Given the description of an element on the screen output the (x, y) to click on. 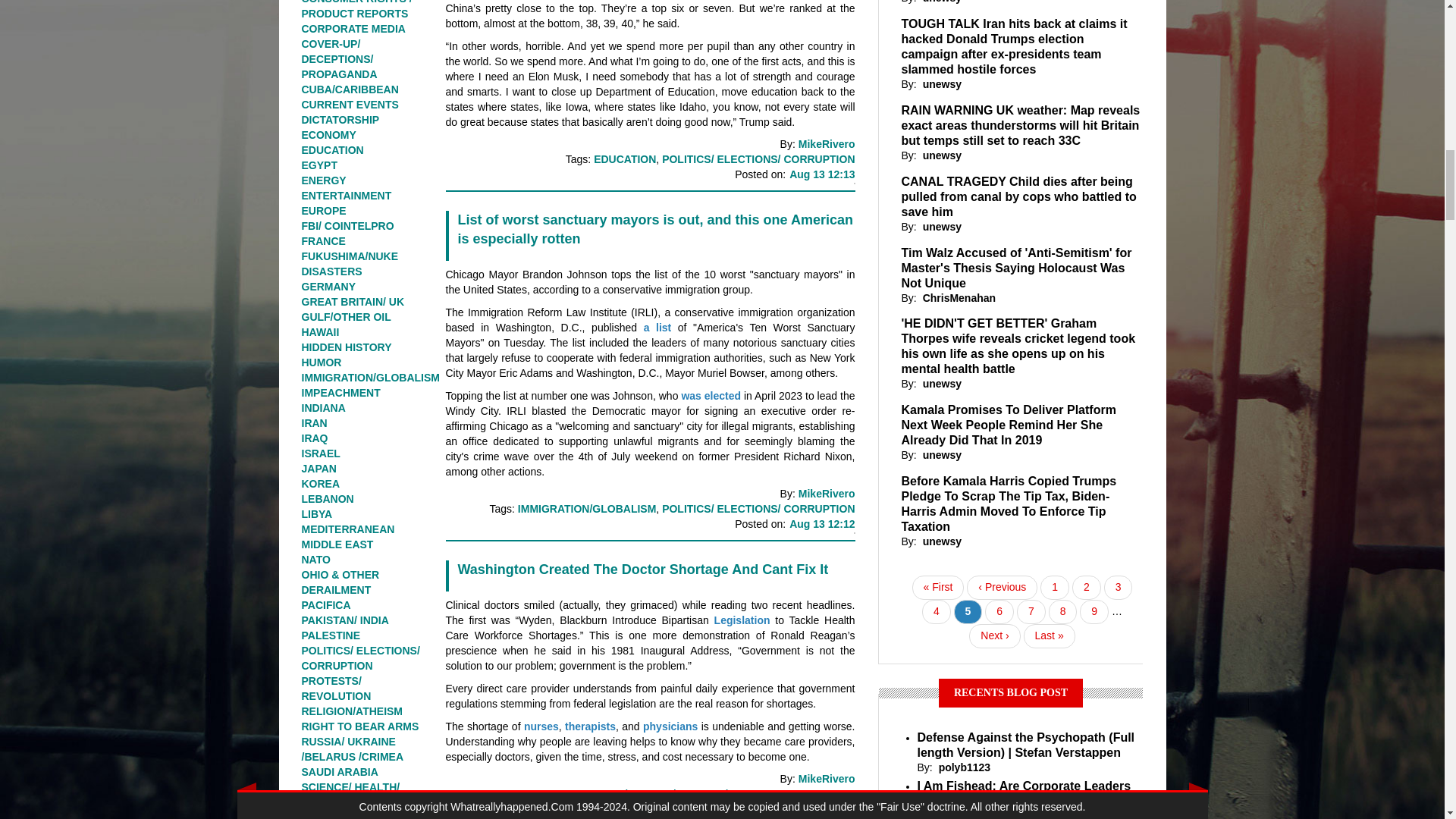
Go to page 4 (935, 611)
Go to page 2 (1085, 587)
Go to page 7 (1030, 611)
Current page (967, 611)
Go to first page (937, 587)
Go to page 1 (1054, 587)
Go to previous page (1001, 587)
Go to page 6 (999, 611)
Go to page 3 (1117, 587)
Go to page 8 (1062, 611)
